Given the description of an element on the screen output the (x, y) to click on. 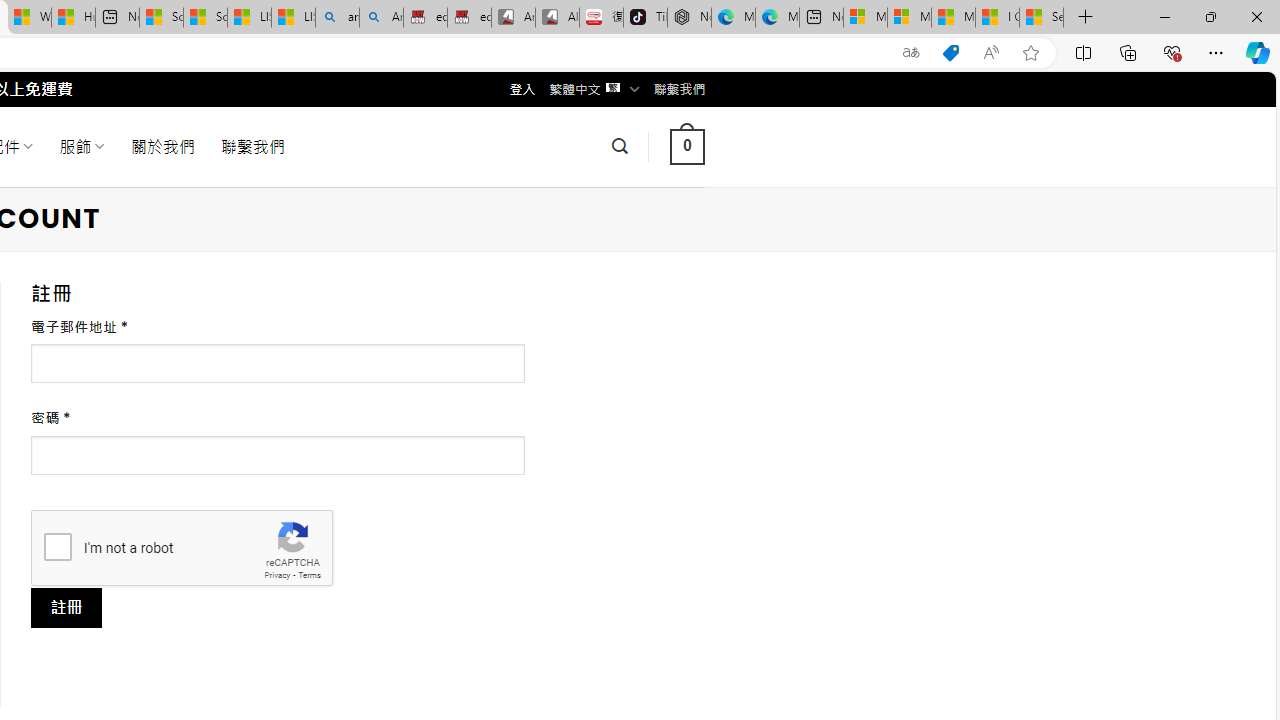
Privacy (276, 575)
 0  (687, 146)
Amazon Echo Dot PNG - Search Images (381, 17)
All Cubot phones (557, 17)
  0   (687, 146)
TikTok (644, 17)
Show translate options (910, 53)
I'm not a robot (57, 546)
Copilot (Ctrl+Shift+.) (1258, 52)
Close (1256, 16)
New tab (821, 17)
